Given the description of an element on the screen output the (x, y) to click on. 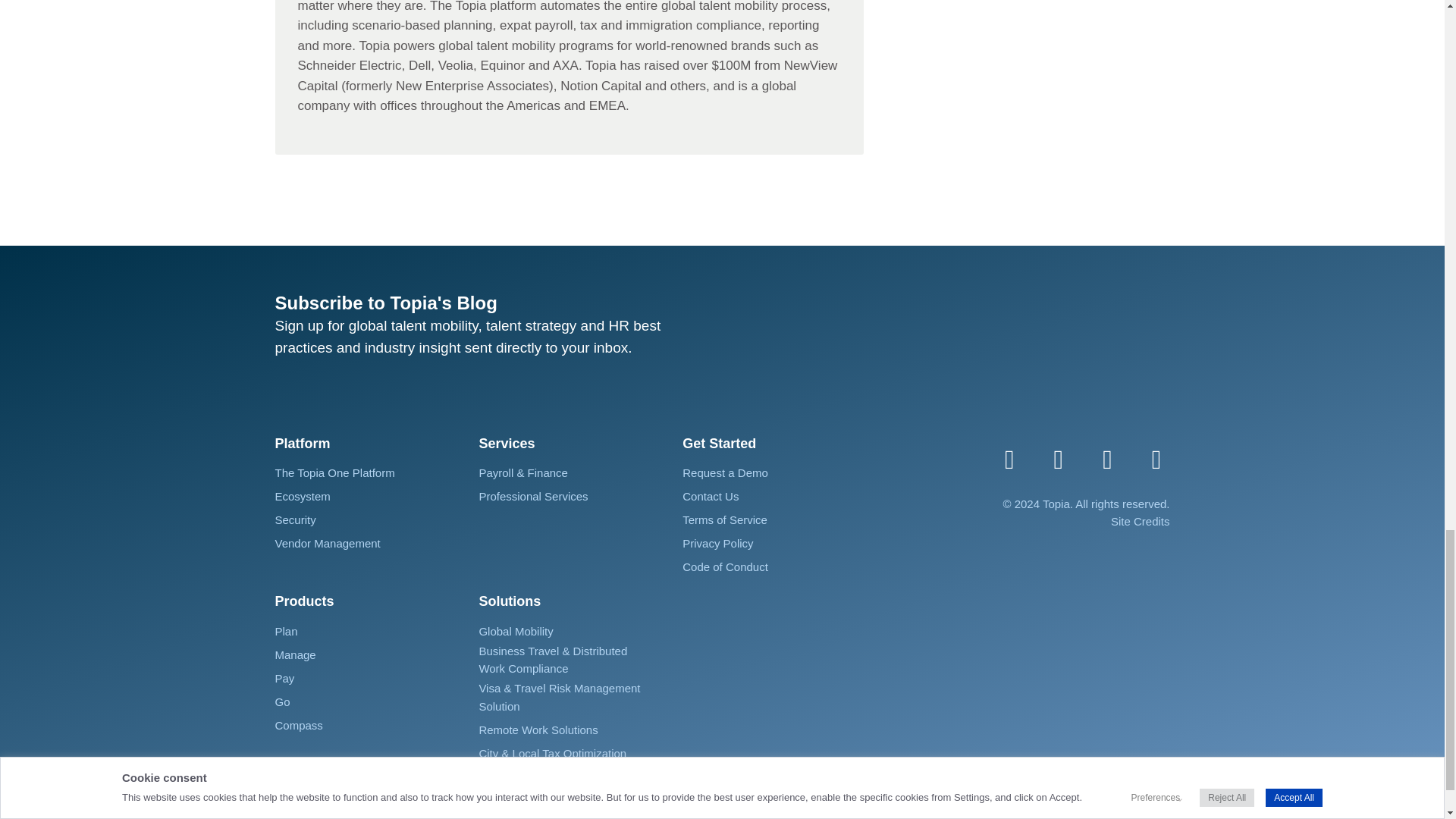
Form 0 (950, 340)
